Given the description of an element on the screen output the (x, y) to click on. 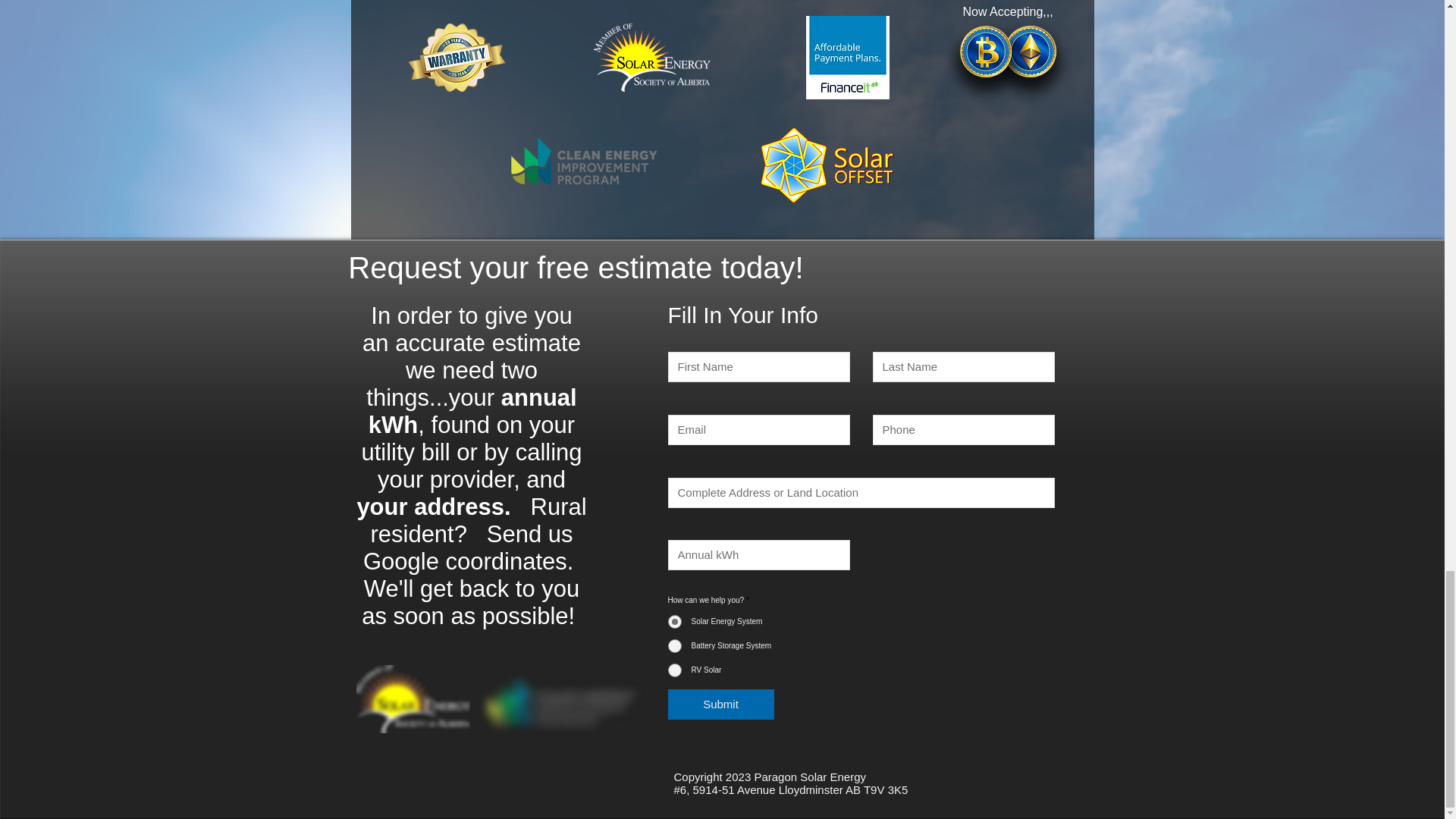
Solar Panel Warranty (455, 57)
Solar Energy Company Alberta (651, 57)
CEIP Certified Installer (582, 162)
Financing Solar  (846, 57)
Ethereum and Bitcoin.png (1008, 62)
Solar Energy Returns (828, 165)
